Given the description of an element on the screen output the (x, y) to click on. 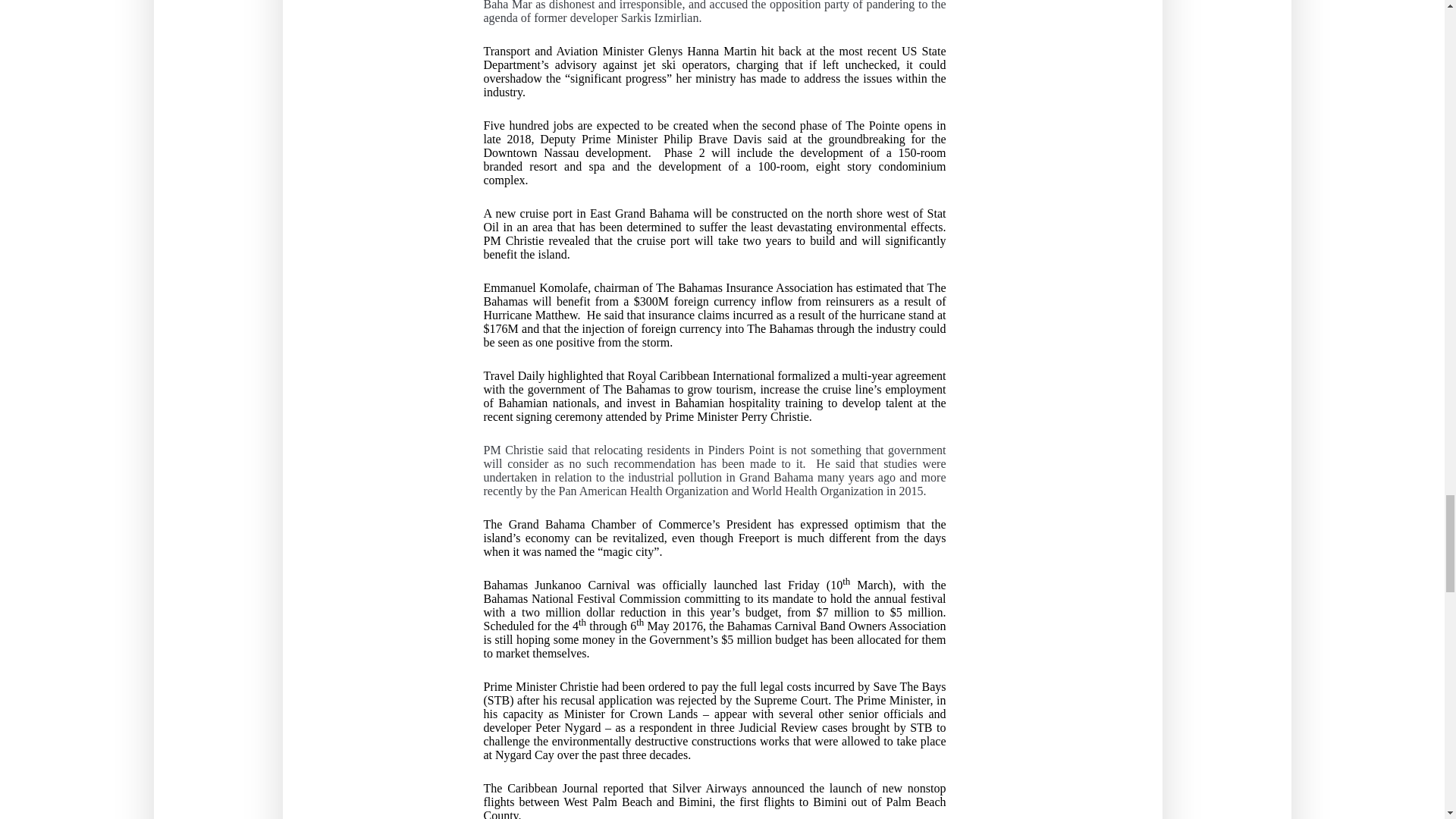
highlighted (574, 376)
reported (623, 788)
